Given the description of an element on the screen output the (x, y) to click on. 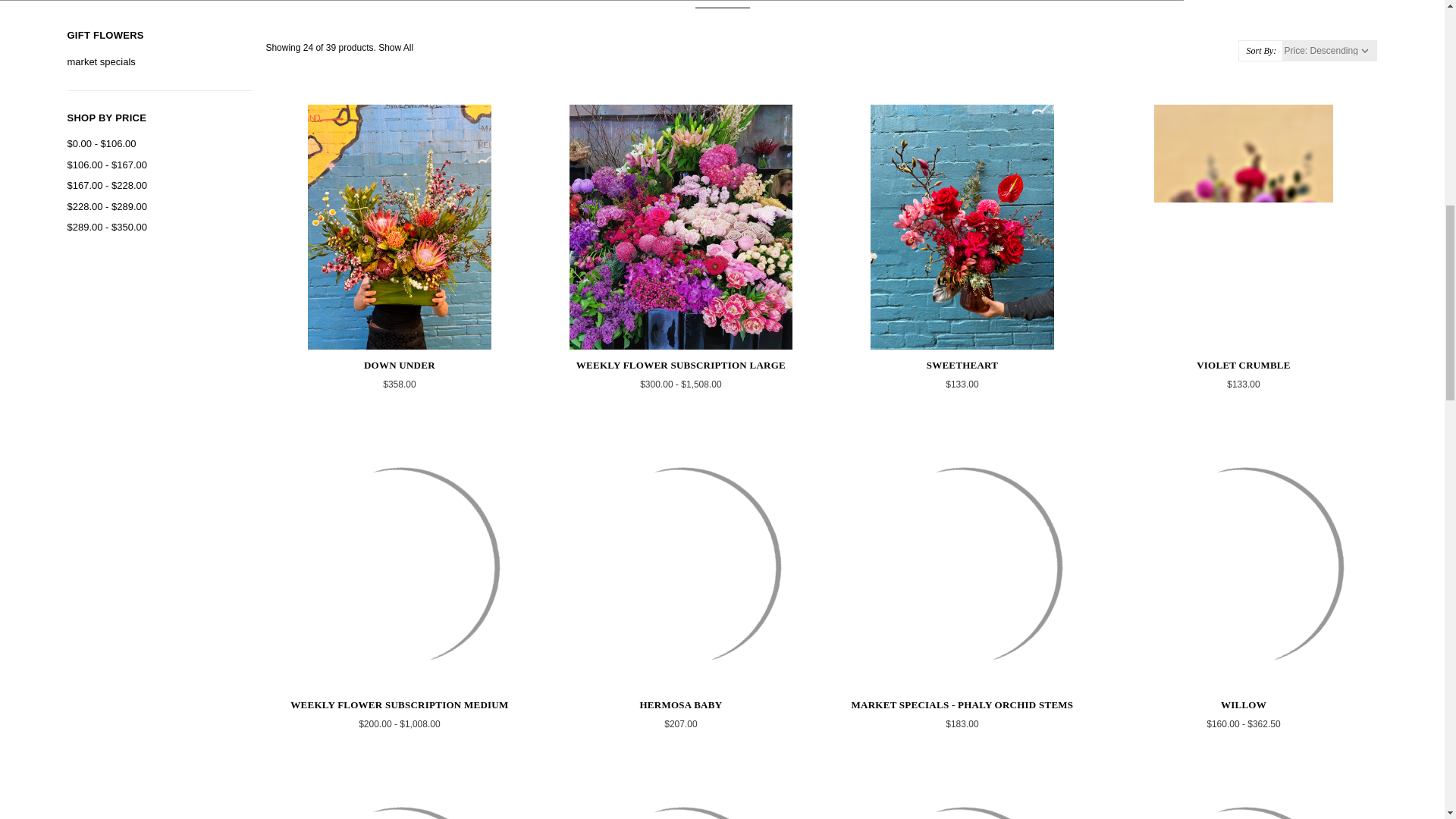
market specials (158, 61)
hermosa baby (680, 566)
weekly flower subscription small (680, 801)
weekly flower subscription large (681, 226)
willow (1243, 566)
MARKET SPECIALS - phaly orchid stems (962, 566)
weekly flower subscription medium (398, 566)
